Given the description of an element on the screen output the (x, y) to click on. 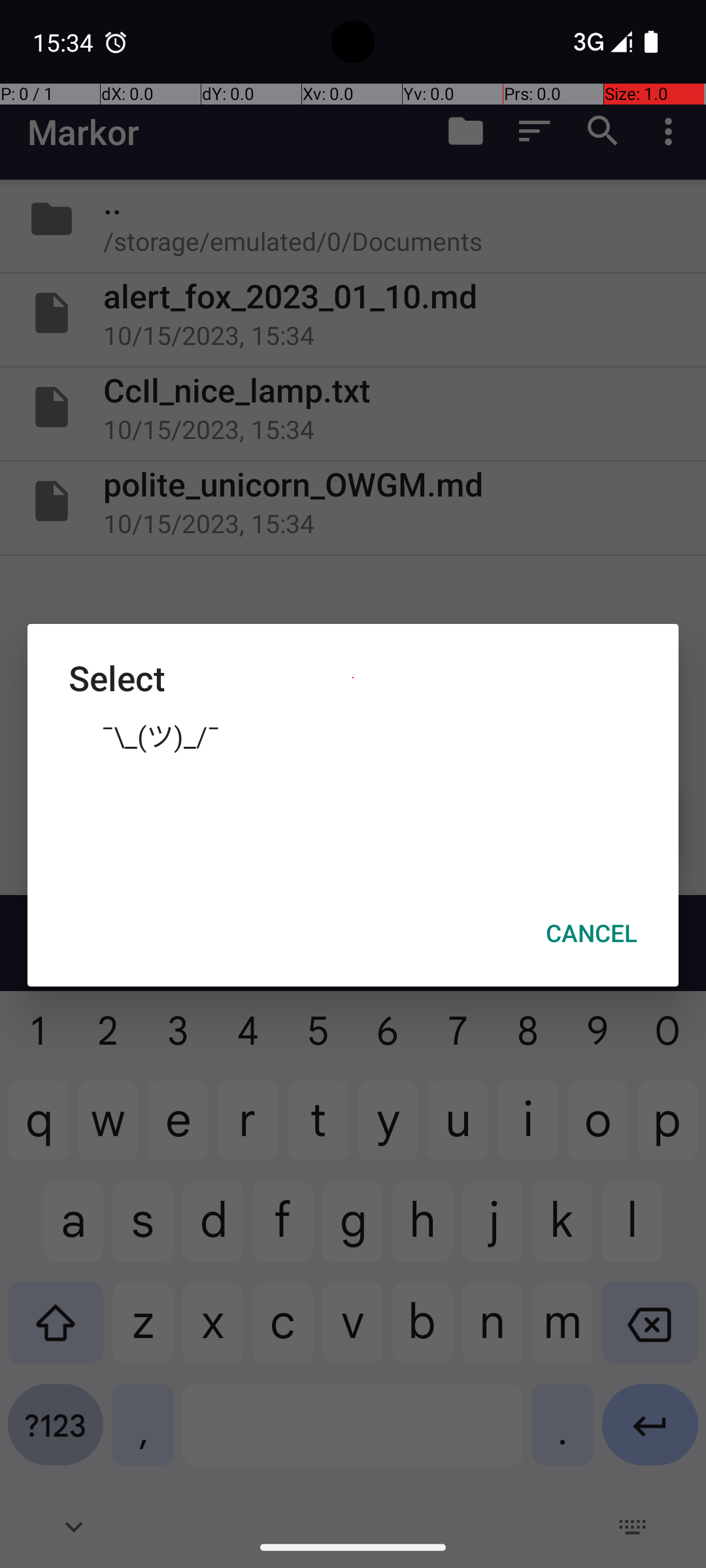
     ¯\_(ツ)_/¯      Element type: android.widget.TextView (352, 734)
